Given the description of an element on the screen output the (x, y) to click on. 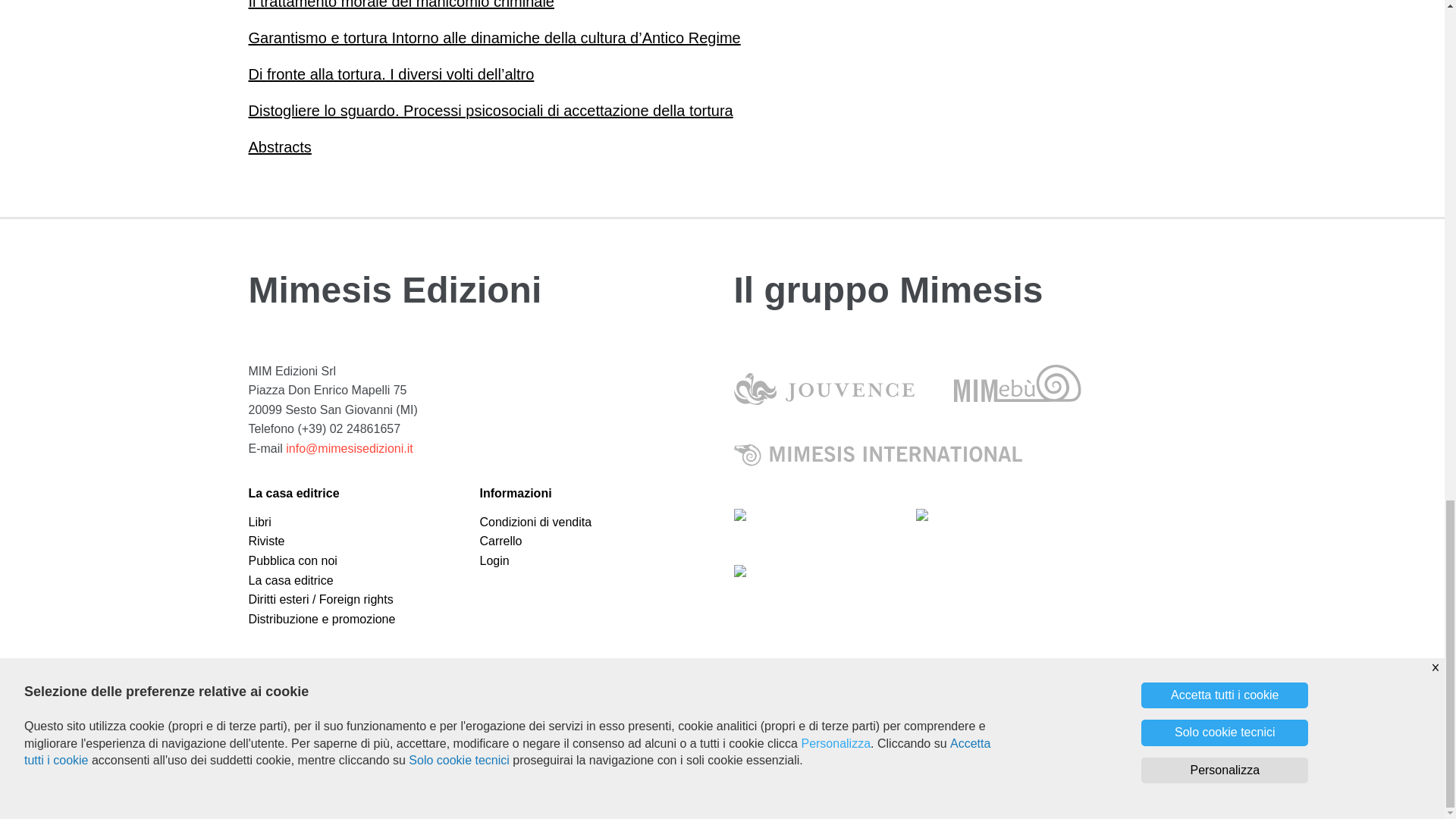
Seguici su Twitter (524, 703)
Visita Jouvence (823, 381)
Visita Mimesis International (877, 454)
Visita Mimesis Verlag (1006, 513)
Seguici su Instagram (505, 703)
Visita Aesthetica Edizioni (804, 513)
Seguici su Facebook (487, 703)
